Given the description of an element on the screen output the (x, y) to click on. 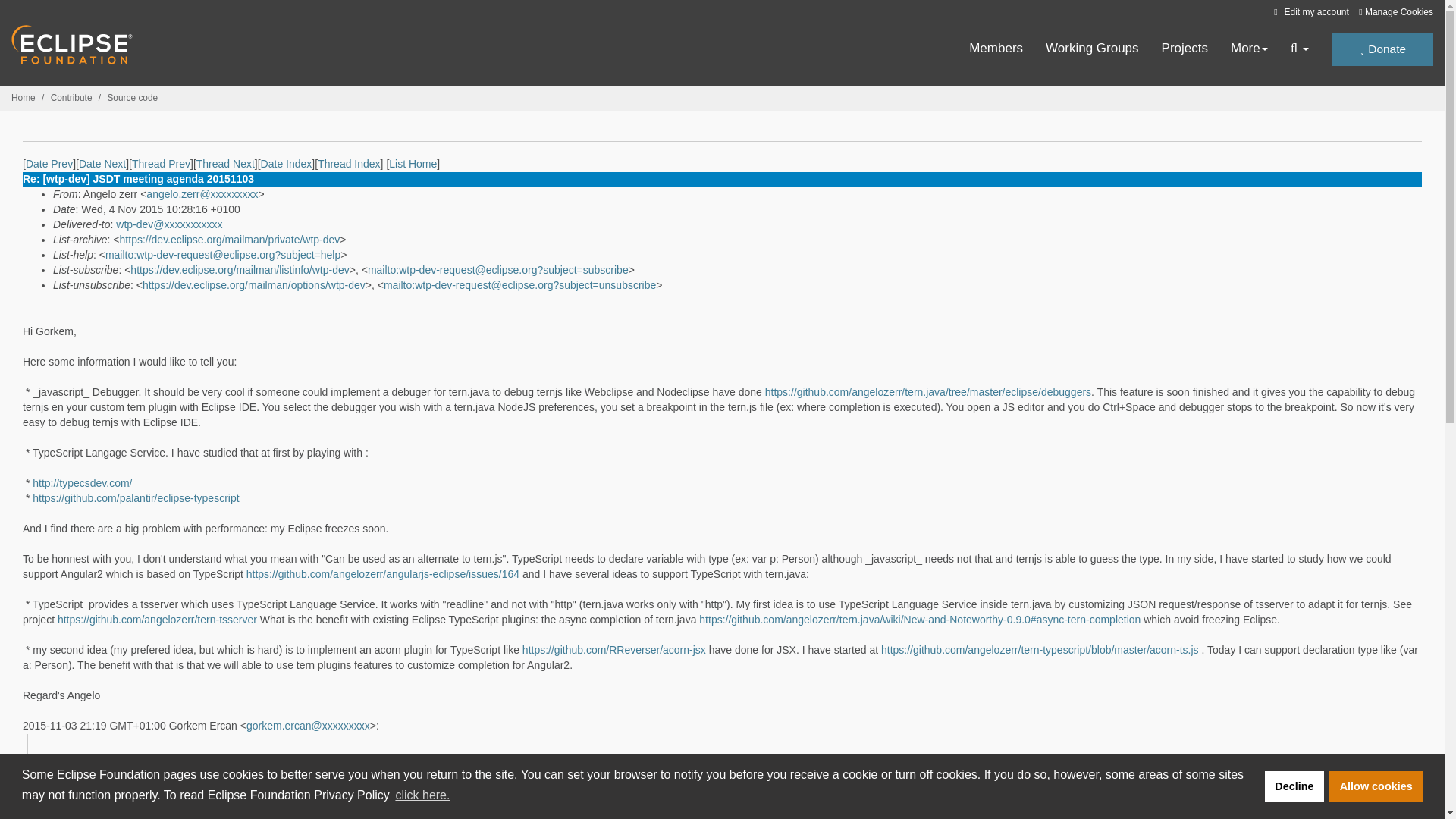
Projects (1184, 48)
Donate (1382, 49)
Edit my account (1309, 11)
Working Groups (1091, 48)
click here. (422, 794)
Allow cookies (1375, 786)
More (1249, 48)
Decline (1294, 786)
Manage Cookies (1395, 12)
Members (996, 48)
